Given the description of an element on the screen output the (x, y) to click on. 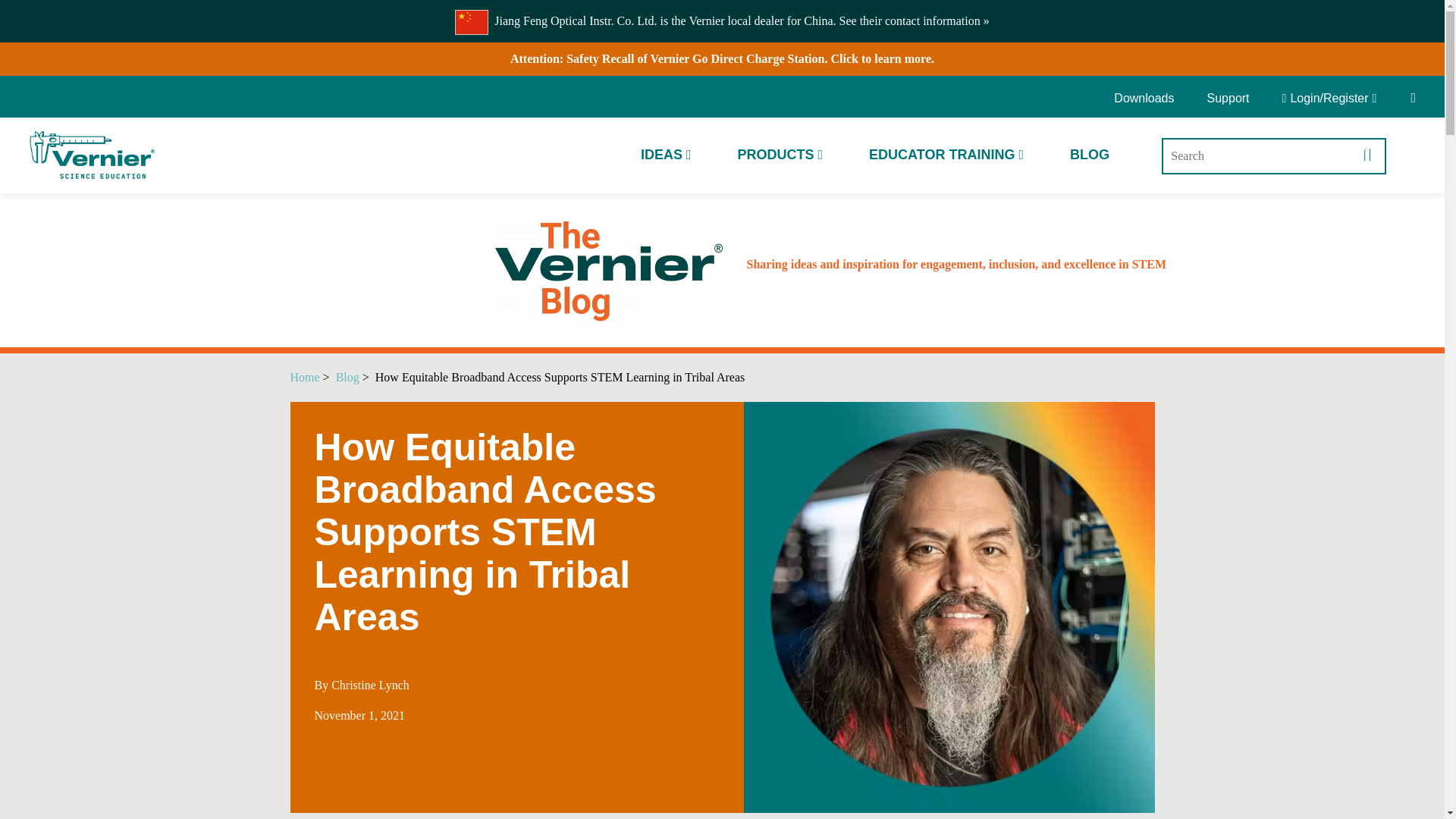
PRODUCTS (779, 154)
Vernier (90, 155)
Support (1227, 98)
IDEAS (665, 154)
Downloads (1149, 98)
